Given the description of an element on the screen output the (x, y) to click on. 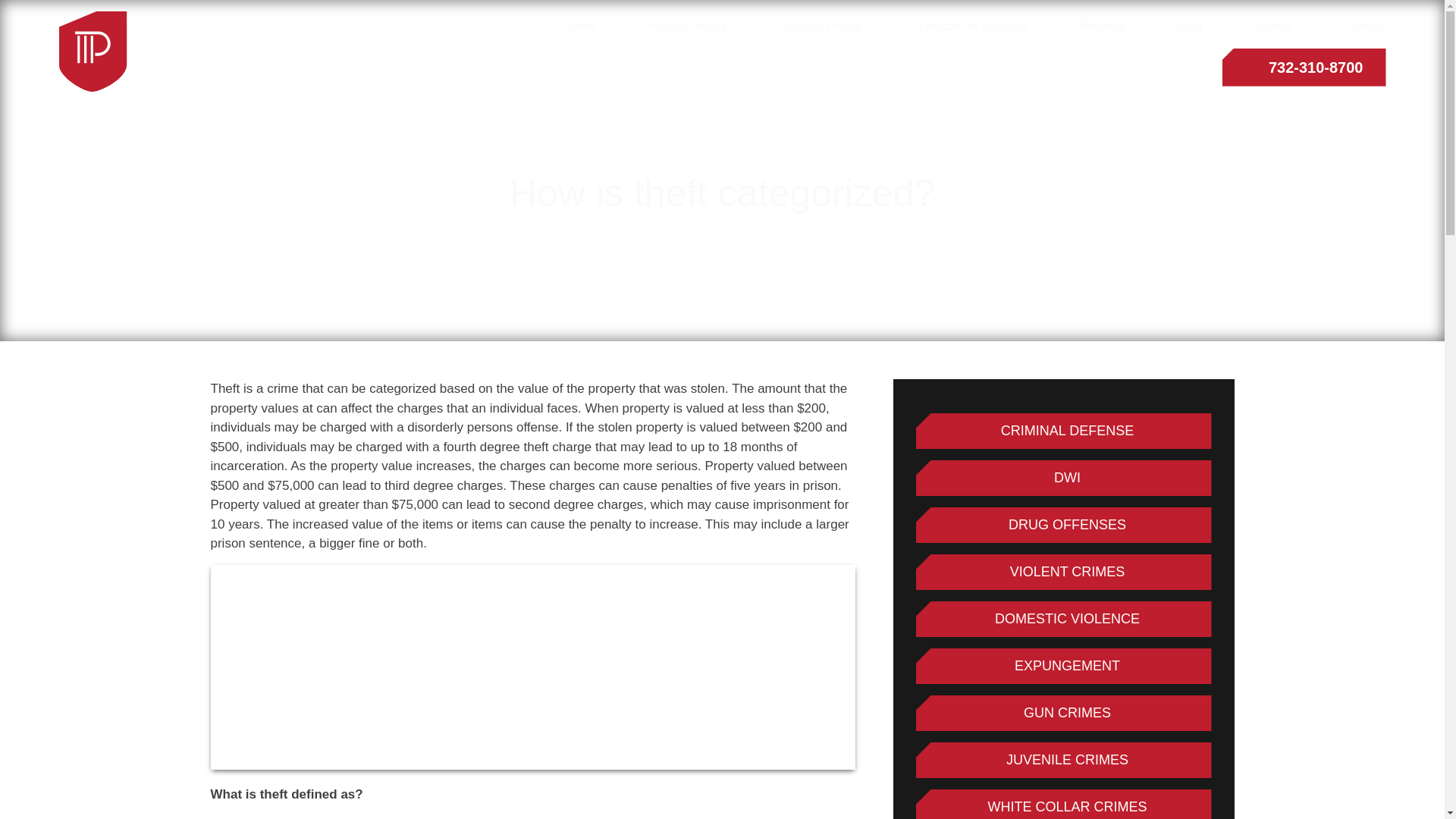
Practice Areas (686, 26)
Home (578, 26)
